Given the description of an element on the screen output the (x, y) to click on. 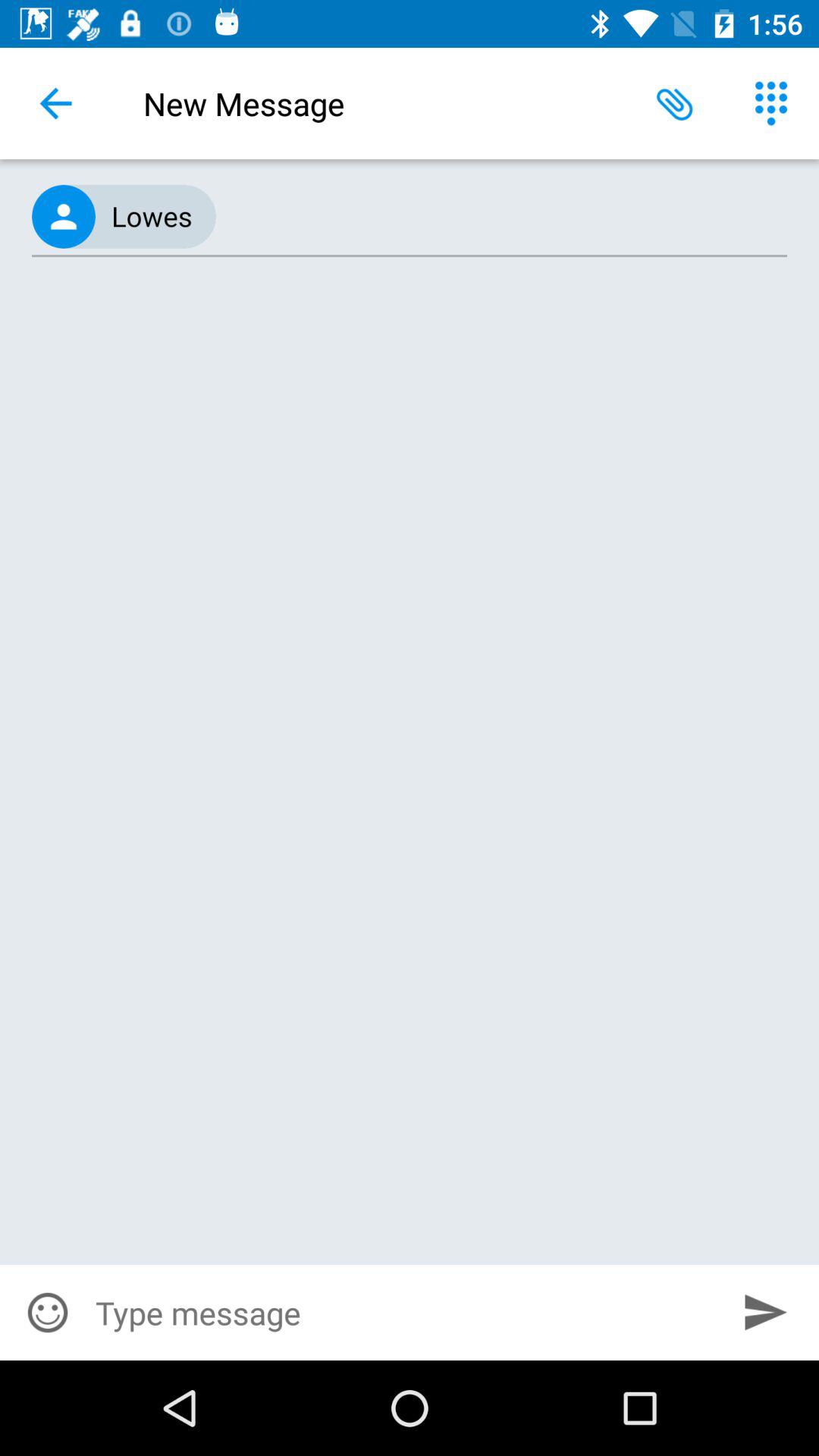
type message (404, 1312)
